Given the description of an element on the screen output the (x, y) to click on. 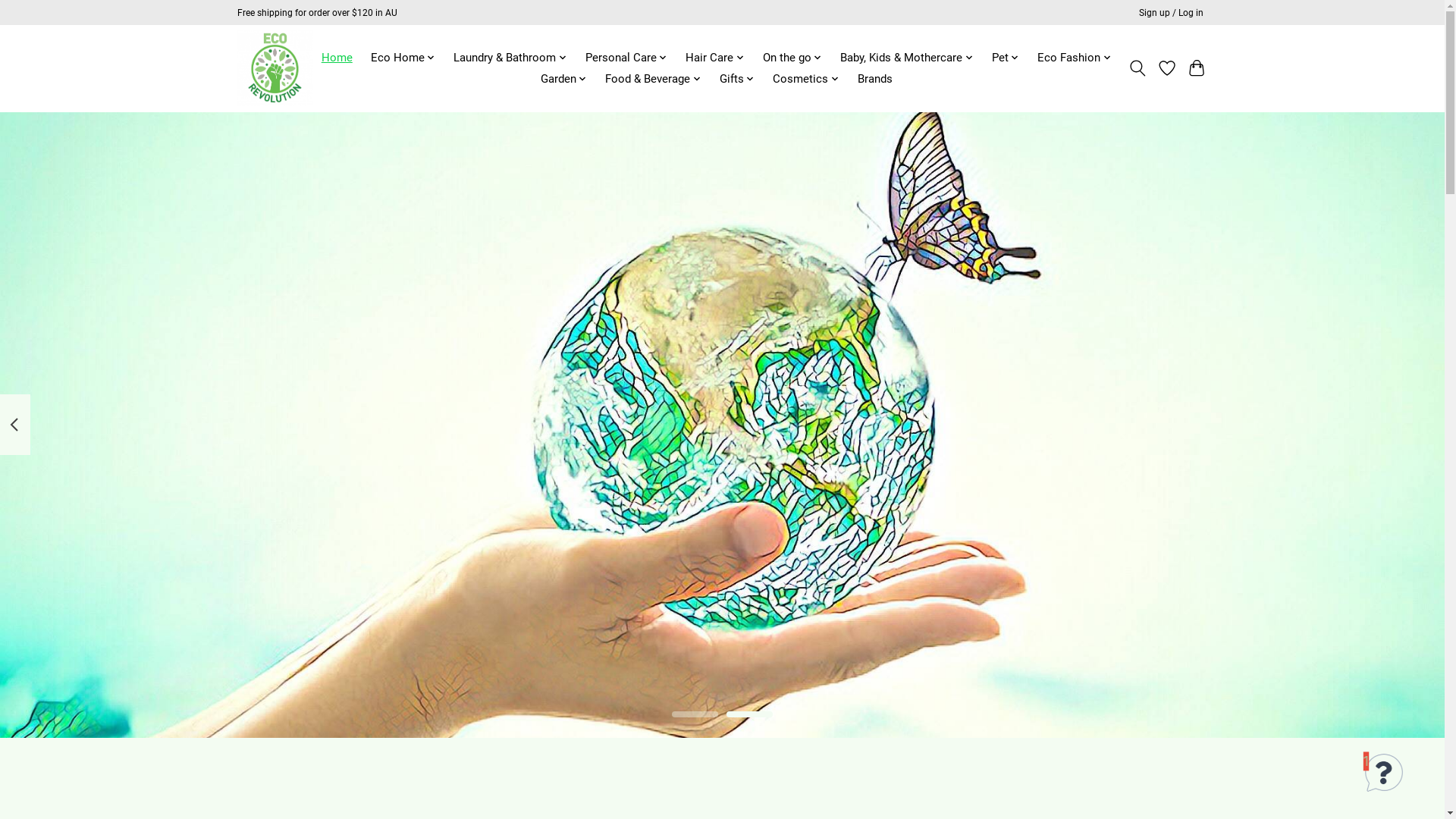
Pet Element type: text (1004, 58)
Laundry & Bathroom Element type: text (510, 58)
Hair Care Element type: text (714, 58)
Garden Element type: text (563, 78)
Baby, Kids & Mothercare Element type: text (906, 58)
Brands Element type: text (874, 78)
Eco Fashion Element type: text (1074, 58)
Personal Care Element type: text (626, 58)
Cosmetics Element type: text (805, 78)
Eco Home Element type: text (403, 58)
Eco Revolution Element type: hover (274, 68)
Gifts Element type: text (736, 78)
Home Element type: text (336, 58)
On the go Element type: text (791, 58)
Food & Beverage Element type: text (652, 78)
Sign up / Log in Element type: text (1170, 12)
